Given the description of an element on the screen output the (x, y) to click on. 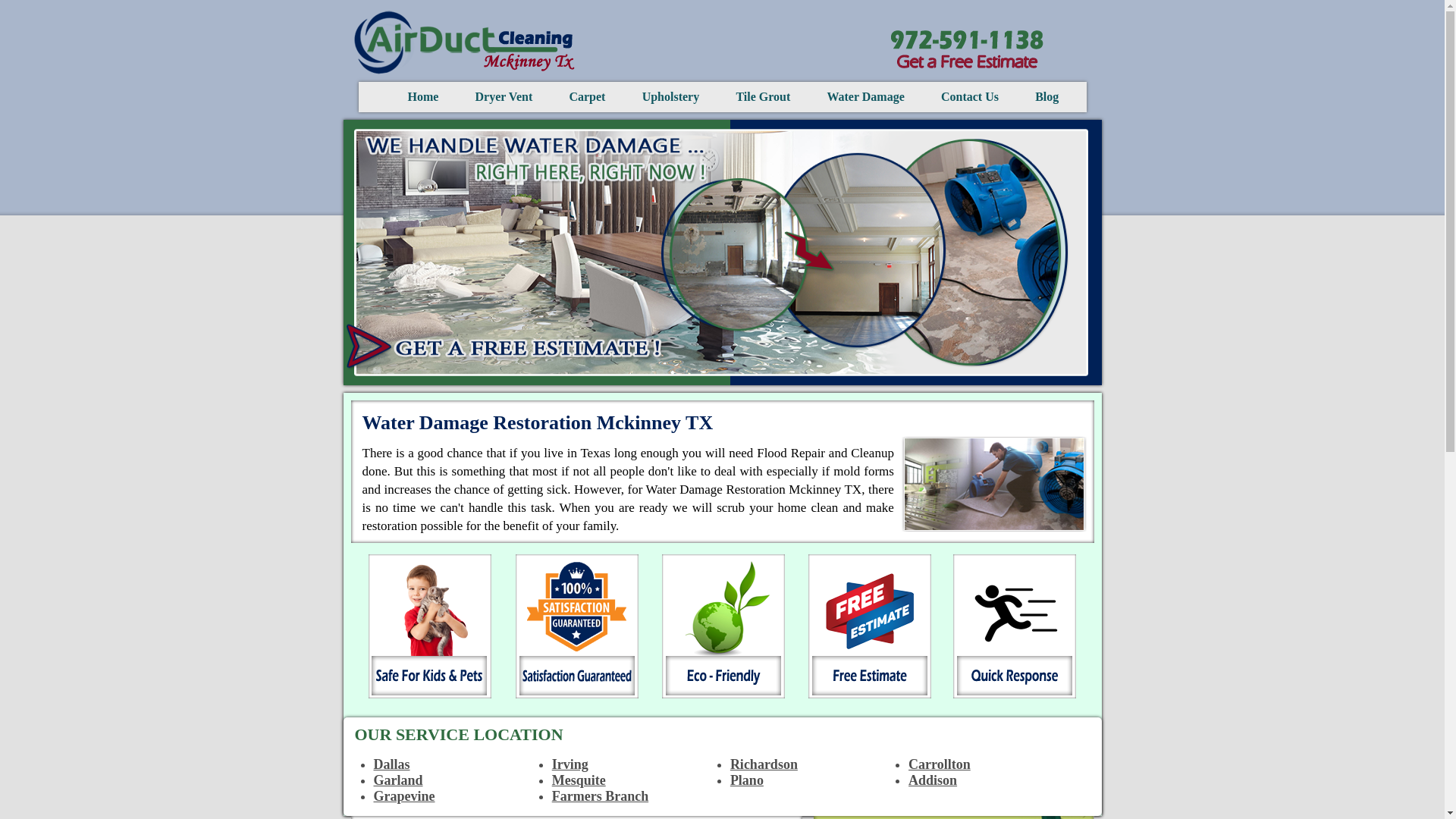
Dallas (390, 764)
Addison (932, 780)
Garland (397, 780)
Affordable Services (721, 625)
Carrollton (939, 764)
Dryer Vent (504, 96)
Plano (746, 780)
Air Duct Cleaning Mckinney TX (464, 41)
Richardson (763, 764)
Farmers Branch (599, 795)
Upholstery (671, 96)
Home (423, 96)
Blog (1046, 96)
Water Damage (865, 96)
Grapevine (402, 795)
